Given the description of an element on the screen output the (x, y) to click on. 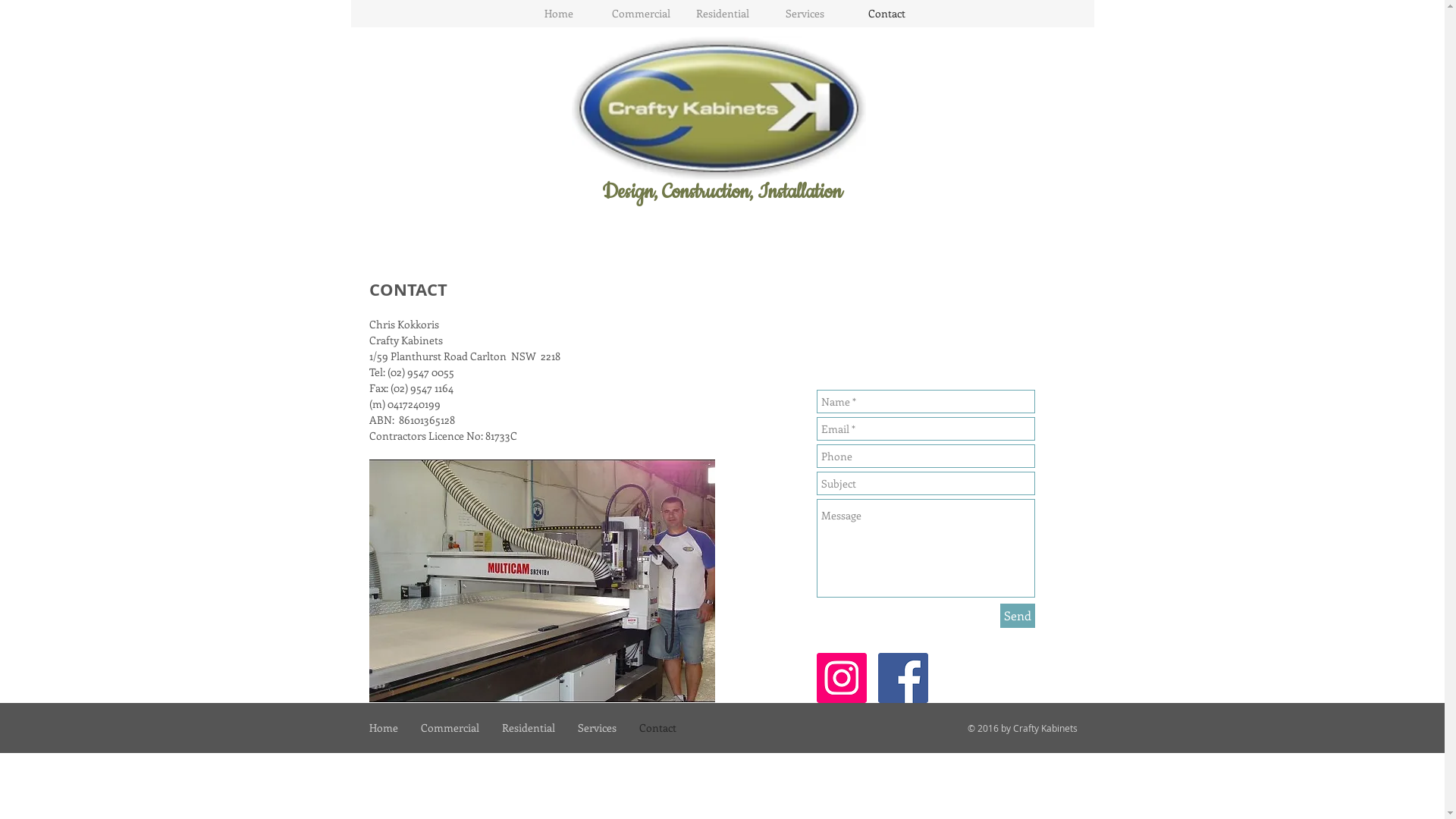
crafty.jpg Element type: hover (541, 580)
Services Element type: text (596, 727)
Residential Element type: text (721, 13)
Contact Element type: text (657, 727)
Services Element type: text (803, 13)
Contact Element type: text (885, 13)
Commercial Element type: text (639, 13)
Home Element type: text (558, 13)
Home Element type: text (383, 727)
Residential Element type: text (527, 727)
Commercial Element type: text (449, 727)
Send Element type: text (1016, 615)
